Given the description of an element on the screen output the (x, y) to click on. 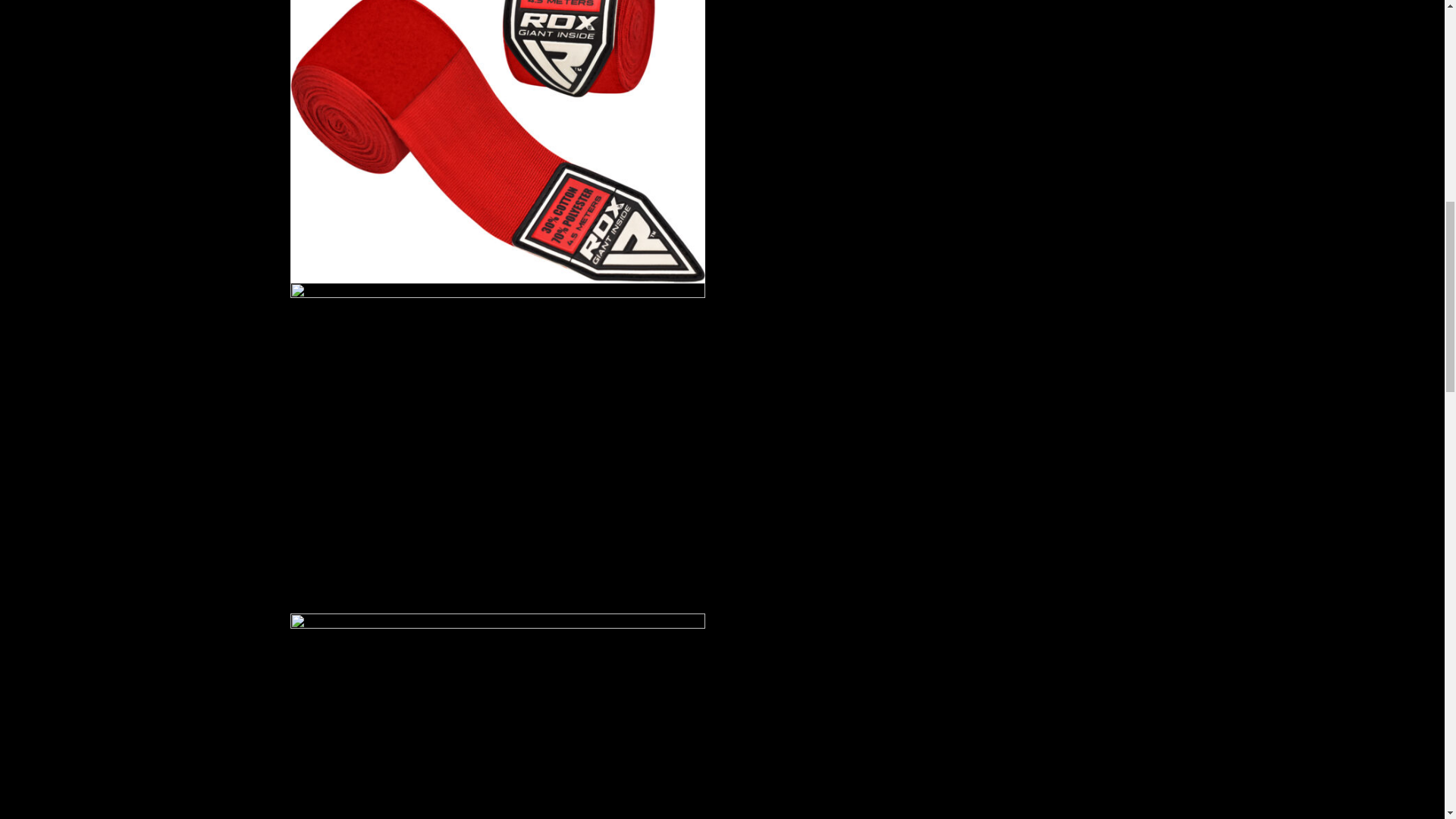
R1 (496, 141)
